Given the description of an element on the screen output the (x, y) to click on. 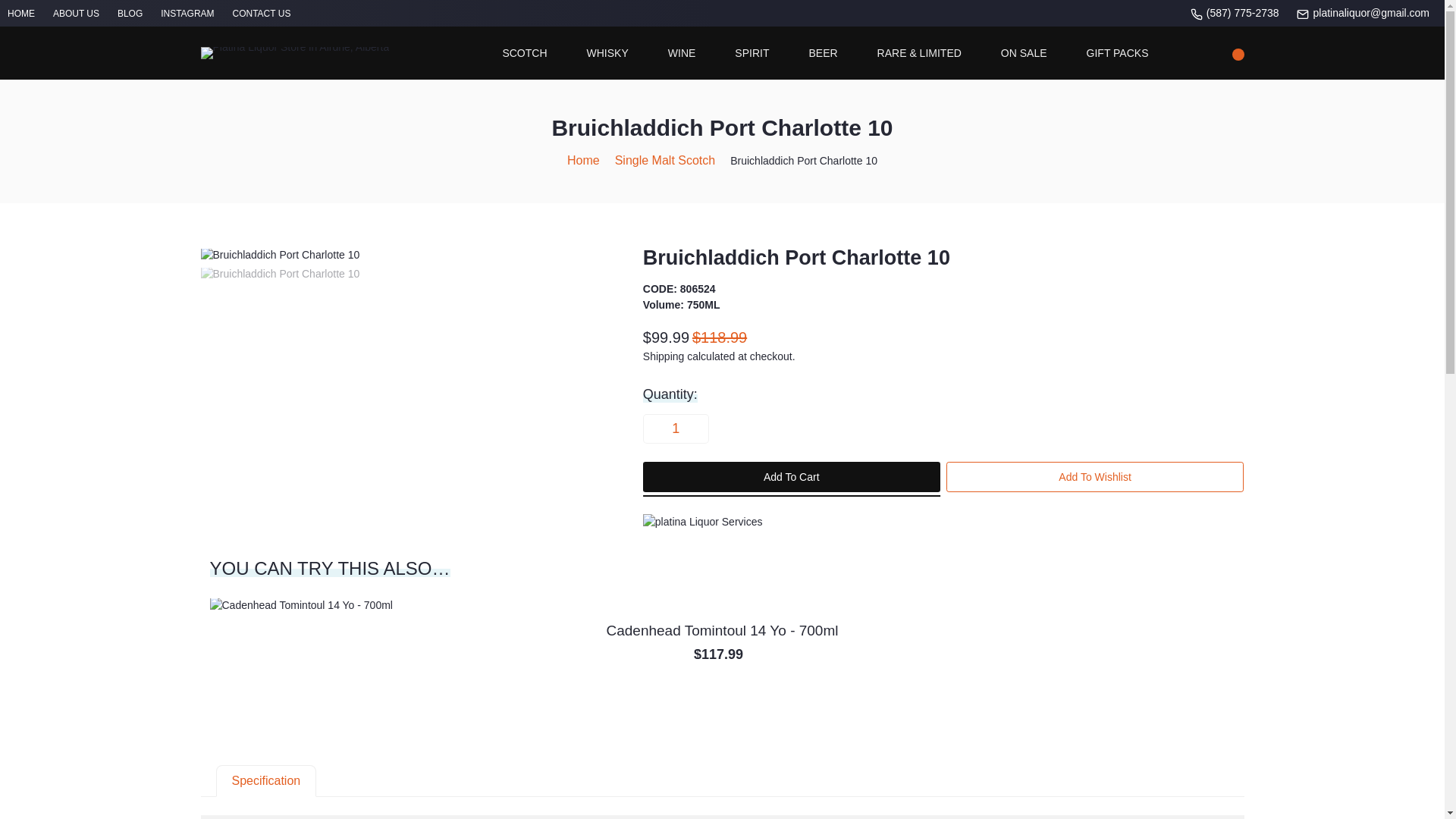
ABOUT US (75, 13)
WINE (681, 52)
BLOG (129, 13)
SCOTCH (524, 52)
CONTACT US (261, 13)
INSTAGRAM (186, 13)
1 (675, 428)
HOME (21, 13)
WHISKY (607, 52)
